Given the description of an element on the screen output the (x, y) to click on. 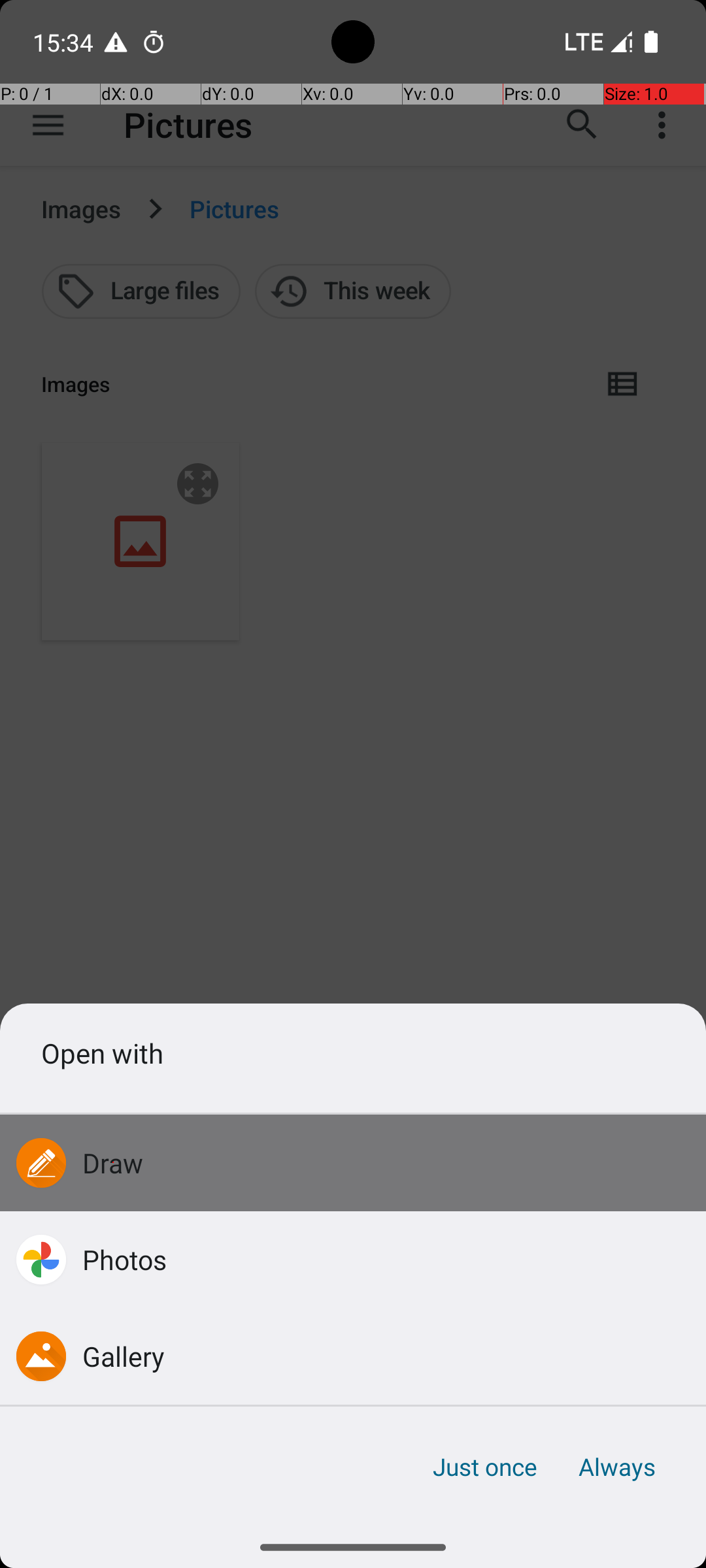
Open with Element type: android.widget.TextView (352, 1052)
Just once Element type: android.widget.Button (484, 1466)
Always Element type: android.widget.Button (616, 1466)
Draw Element type: android.widget.TextView (112, 1162)
Gallery Element type: android.widget.TextView (123, 1355)
